Given the description of an element on the screen output the (x, y) to click on. 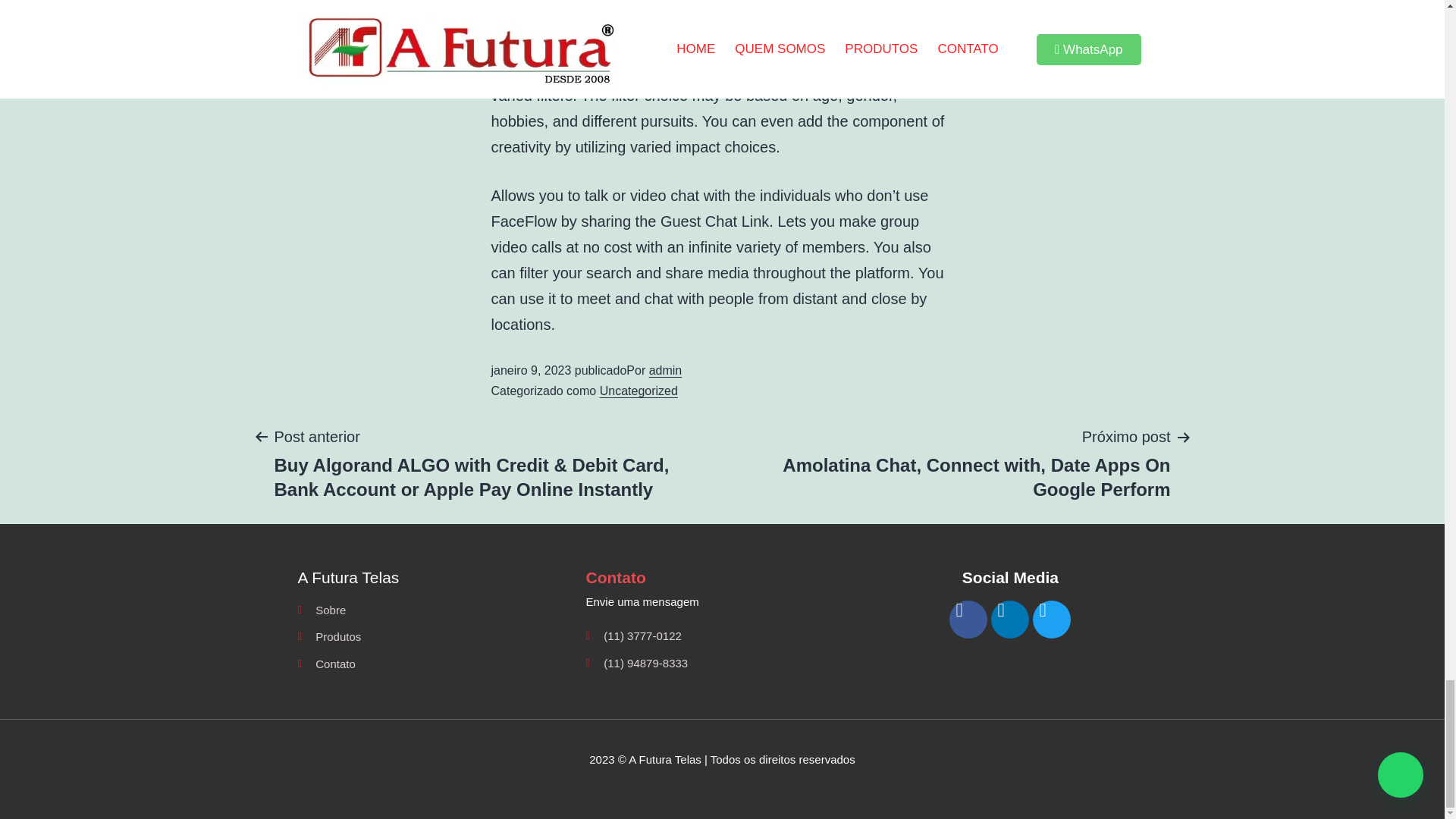
Envie uma mensagem (722, 601)
Contato (433, 664)
Uncategorized (638, 390)
Produtos (433, 637)
Sobre (433, 609)
admin (665, 369)
